Given the description of an element on the screen output the (x, y) to click on. 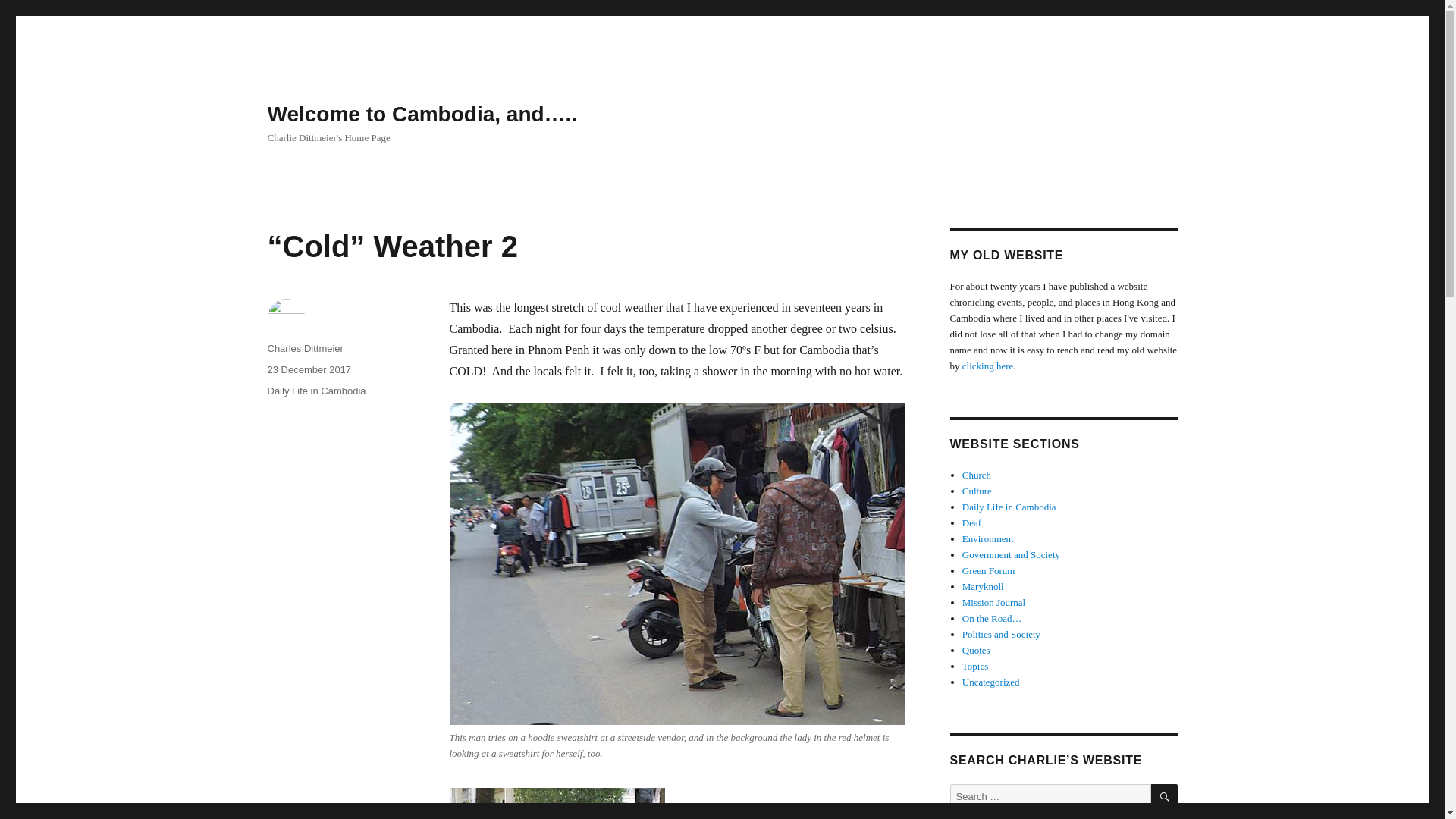
Government and Society (1010, 554)
Charles Dittmeier (304, 348)
Daily Life in Cambodia (315, 390)
Green Forum (988, 570)
Deaf (971, 522)
Mission Journal (993, 602)
23 December 2017 (308, 369)
Politics and Society (1001, 633)
Church (976, 474)
clicking here (987, 365)
